Given the description of an element on the screen output the (x, y) to click on. 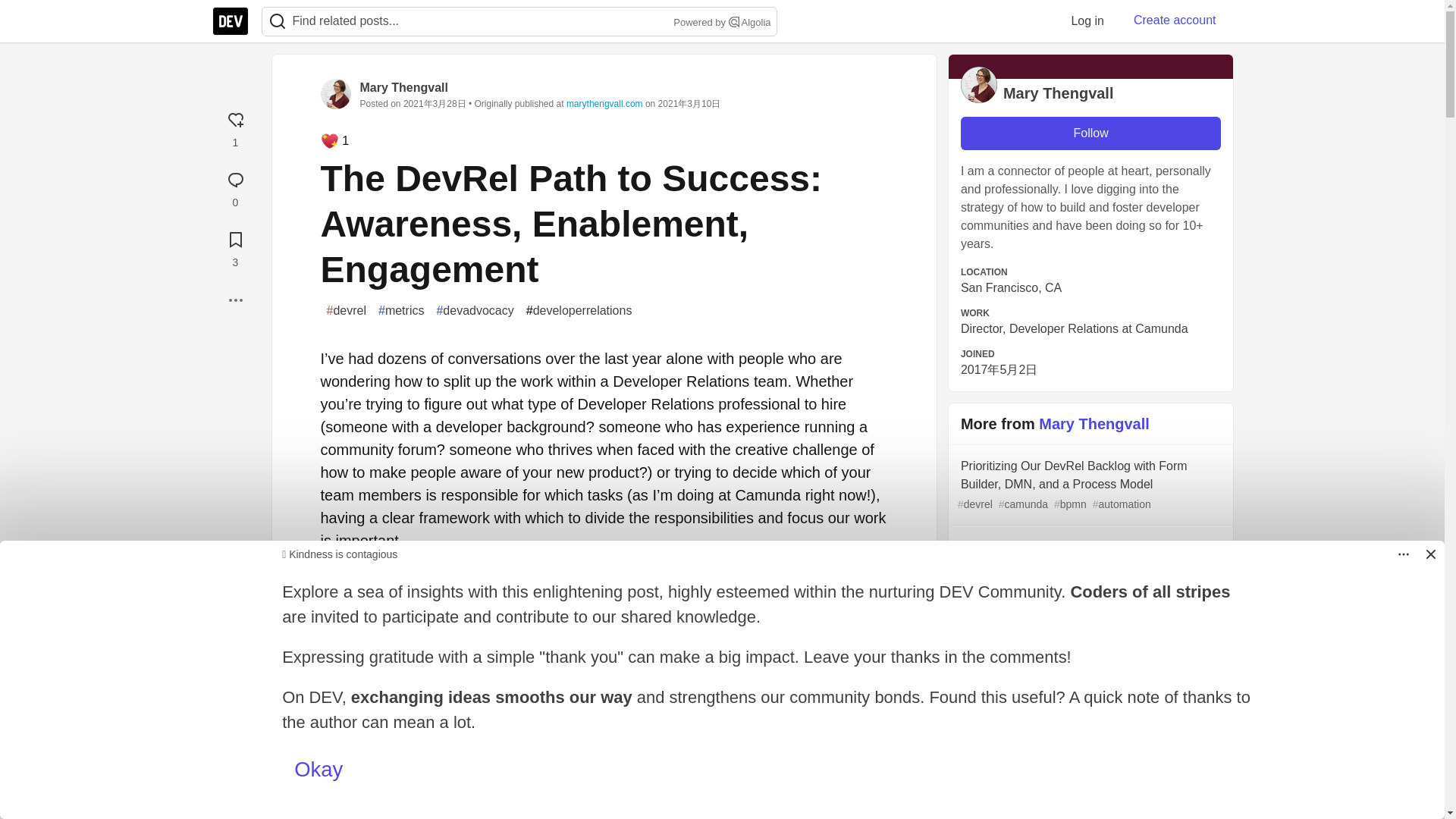
0 (235, 187)
marythengvall.com (604, 103)
Mary Thengvall (402, 87)
Dropdown menu (1403, 554)
Create account (1174, 20)
More... (234, 300)
previous blogpost (408, 578)
More... (234, 299)
Powered by Algolia (720, 22)
3 (235, 247)
